Given the description of an element on the screen output the (x, y) to click on. 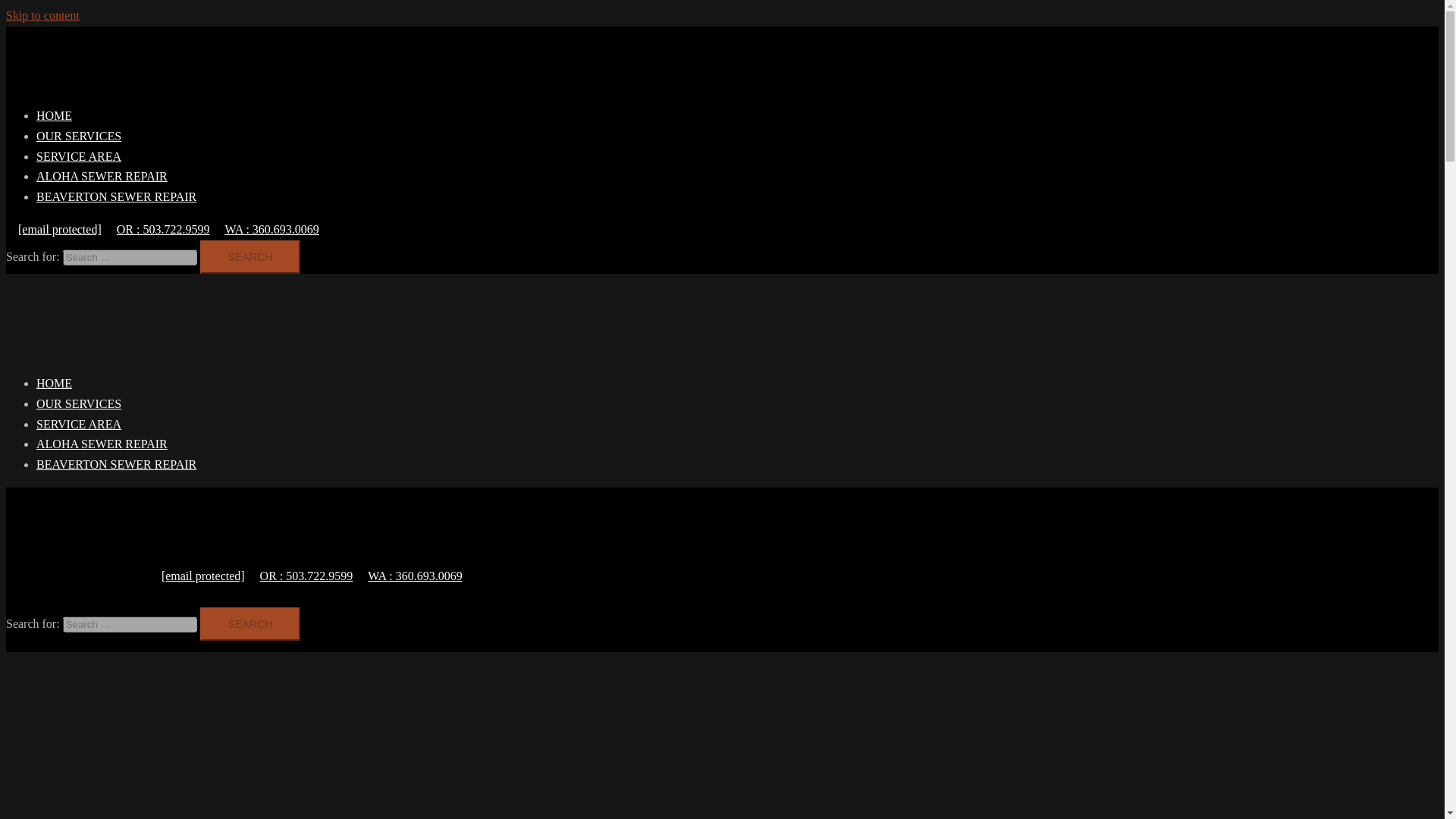
ALOHA SEWER REPAIR (101, 443)
BEAVERTON SEWER REPAIR (116, 464)
WA : 360.693.0069 (408, 575)
Search (249, 256)
Search (249, 623)
SERVICE AREA (78, 155)
WA : 360.693.0069 (265, 228)
NWHomeServicesLLC (206, 554)
Search (249, 256)
Search (249, 256)
Skip to content (42, 15)
NWHomeServicesLLC (62, 329)
HOME (53, 115)
OUR SERVICES (78, 403)
OR : 503.722.9599 (300, 575)
